Given the description of an element on the screen output the (x, y) to click on. 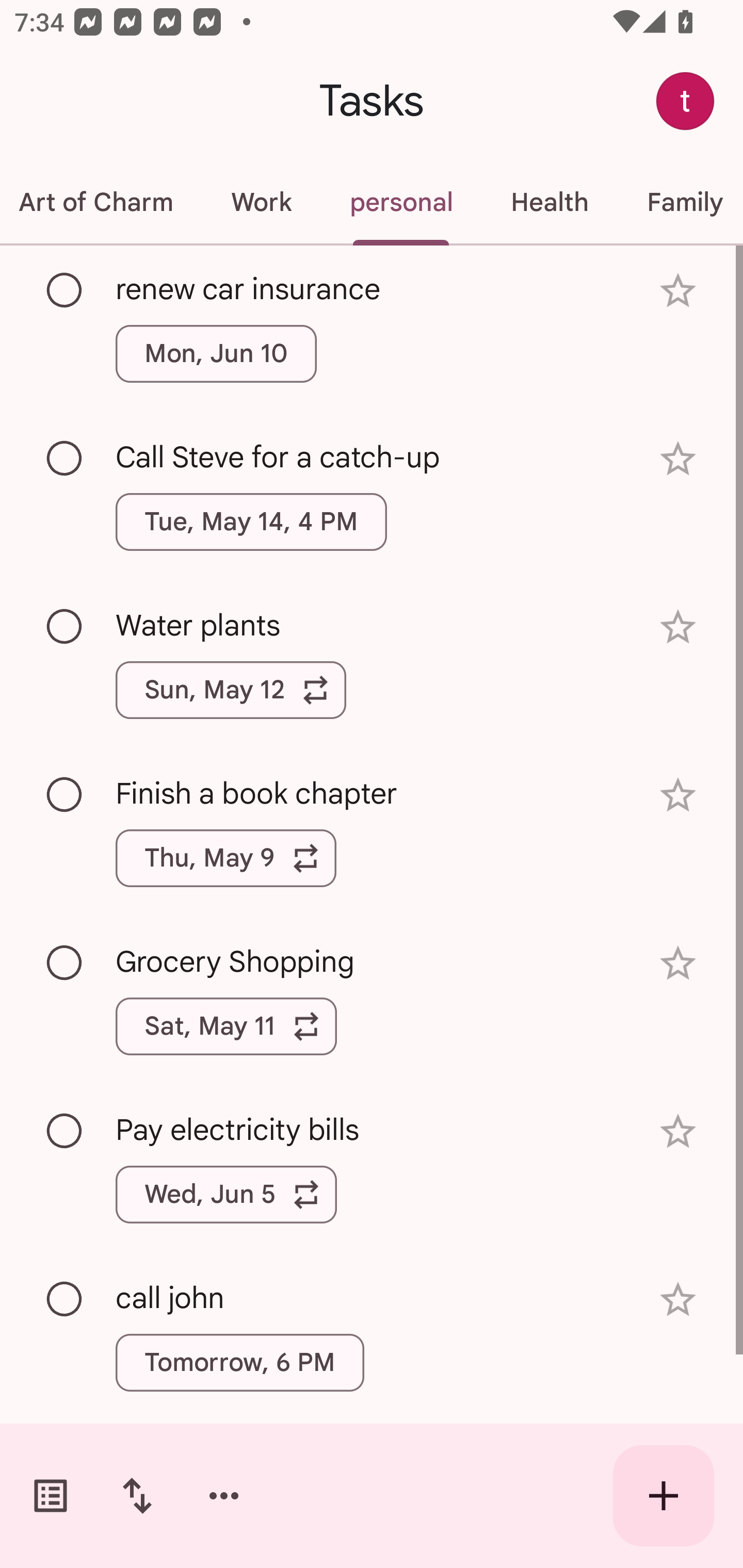
The Art of Charm (101, 202)
Work (261, 202)
Health (549, 202)
Family (680, 202)
Add star (677, 290)
Mark as complete (64, 290)
Mon, Jun 10 (215, 353)
Add star (677, 458)
Mark as complete (64, 459)
Tue, May 14, 4 PM (251, 522)
Add star (677, 627)
Mark as complete (64, 627)
Sun, May 12 (230, 689)
Add star (677, 795)
Mark as complete (64, 794)
Thu, May 9 (225, 858)
Add star (677, 963)
Mark as complete (64, 963)
Sat, May 11 (225, 1026)
Add star (677, 1131)
Mark as complete (64, 1132)
Wed, Jun 5 (225, 1193)
Add star (677, 1299)
Mark as complete (64, 1299)
Tomorrow, 6 PM (239, 1362)
Switch task lists (50, 1495)
Create new task (663, 1495)
Change sort order (136, 1495)
More options (223, 1495)
